Given the description of an element on the screen output the (x, y) to click on. 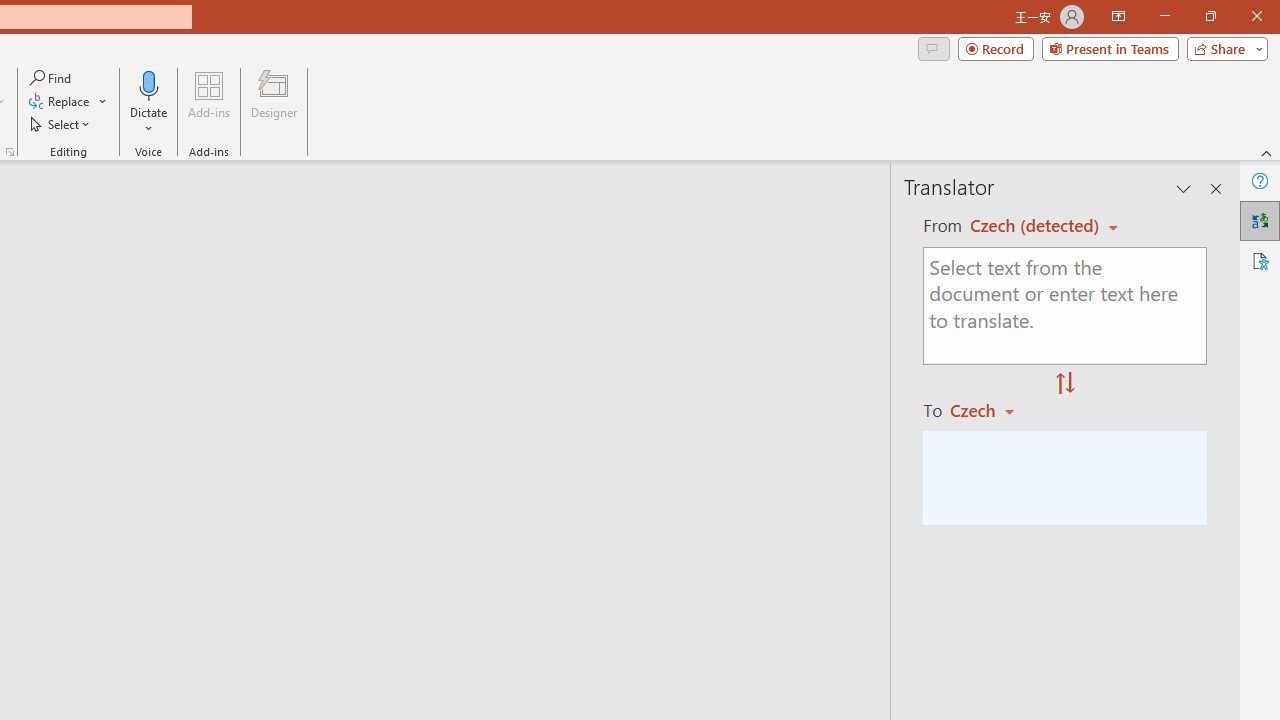
C26.0% M5.9% (435, 202)
icon (591, 201)
Class: next-menu next-hoz widgets--iconMenu--BFkiHRM (591, 202)
